Given the description of an element on the screen output the (x, y) to click on. 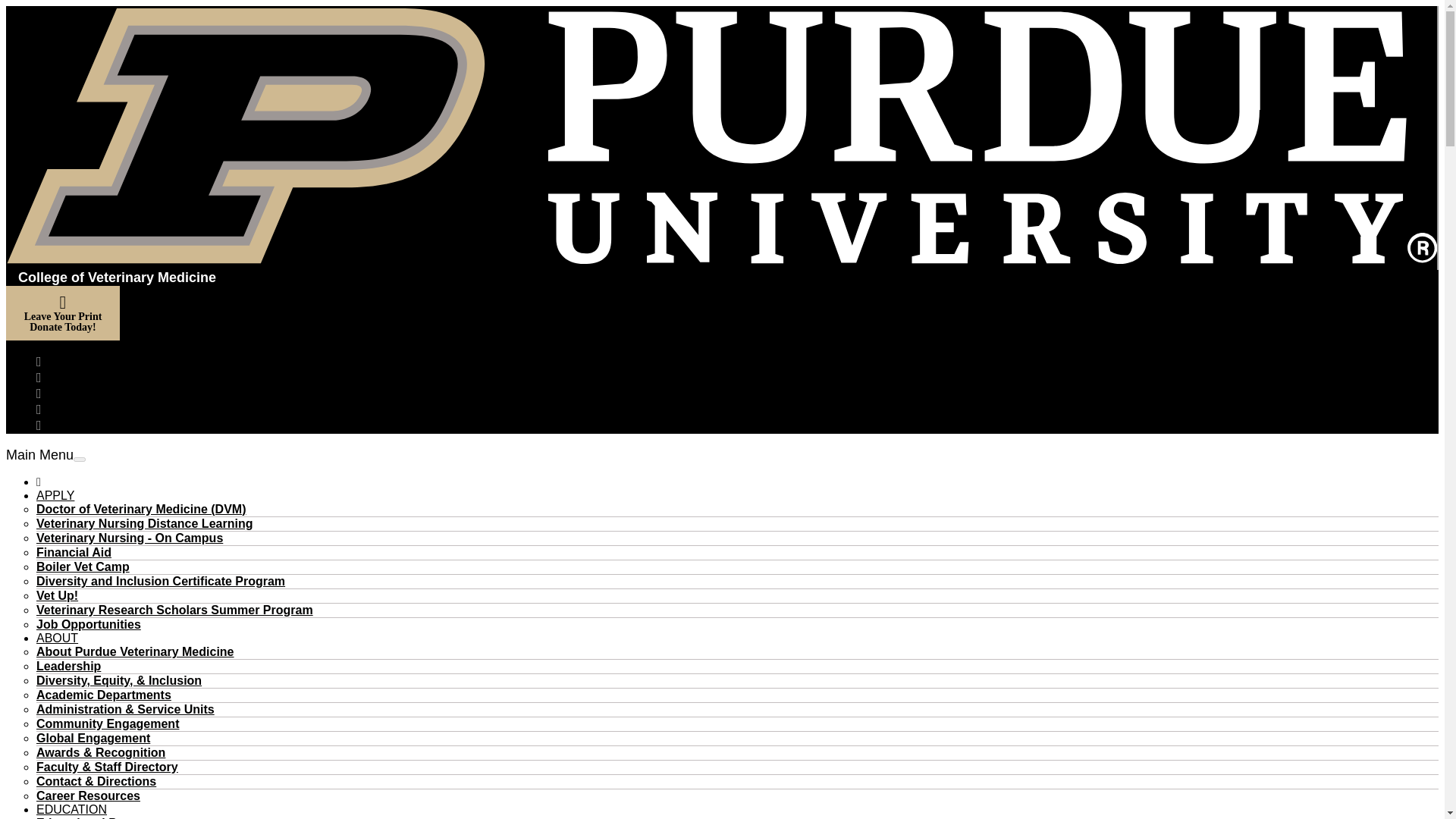
Educational Programs (100, 817)
Job Opportunities (88, 624)
Veterinary Research Scholars Summer Program (174, 609)
APPLY (55, 495)
Veterinary Nursing - On Campus (129, 537)
EDUCATION (71, 809)
Leadership (68, 666)
Boiler Vet Camp (82, 566)
Global Engagement (92, 738)
Vet Up! (57, 594)
